Given the description of an element on the screen output the (x, y) to click on. 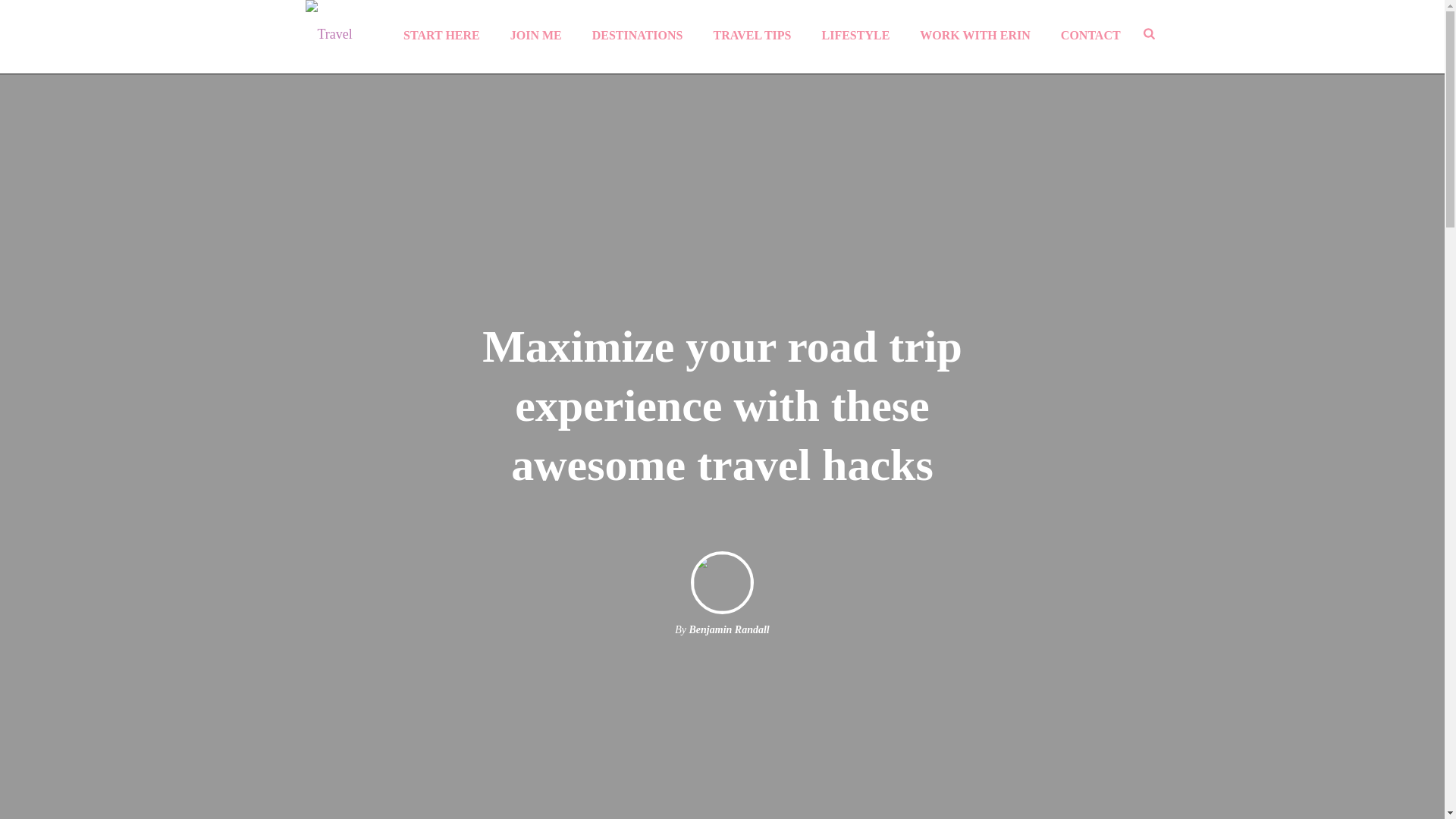
DESTINATIONS (637, 33)
JOIN ME (535, 33)
JOIN ME (535, 33)
TRAVEL TIPS (751, 33)
CONTACT (1090, 33)
START HERE (441, 33)
DESTINATIONS (637, 33)
START HERE (441, 33)
WORK WITH ERIN (974, 33)
LIFESTYLE (855, 33)
